Given the description of an element on the screen output the (x, y) to click on. 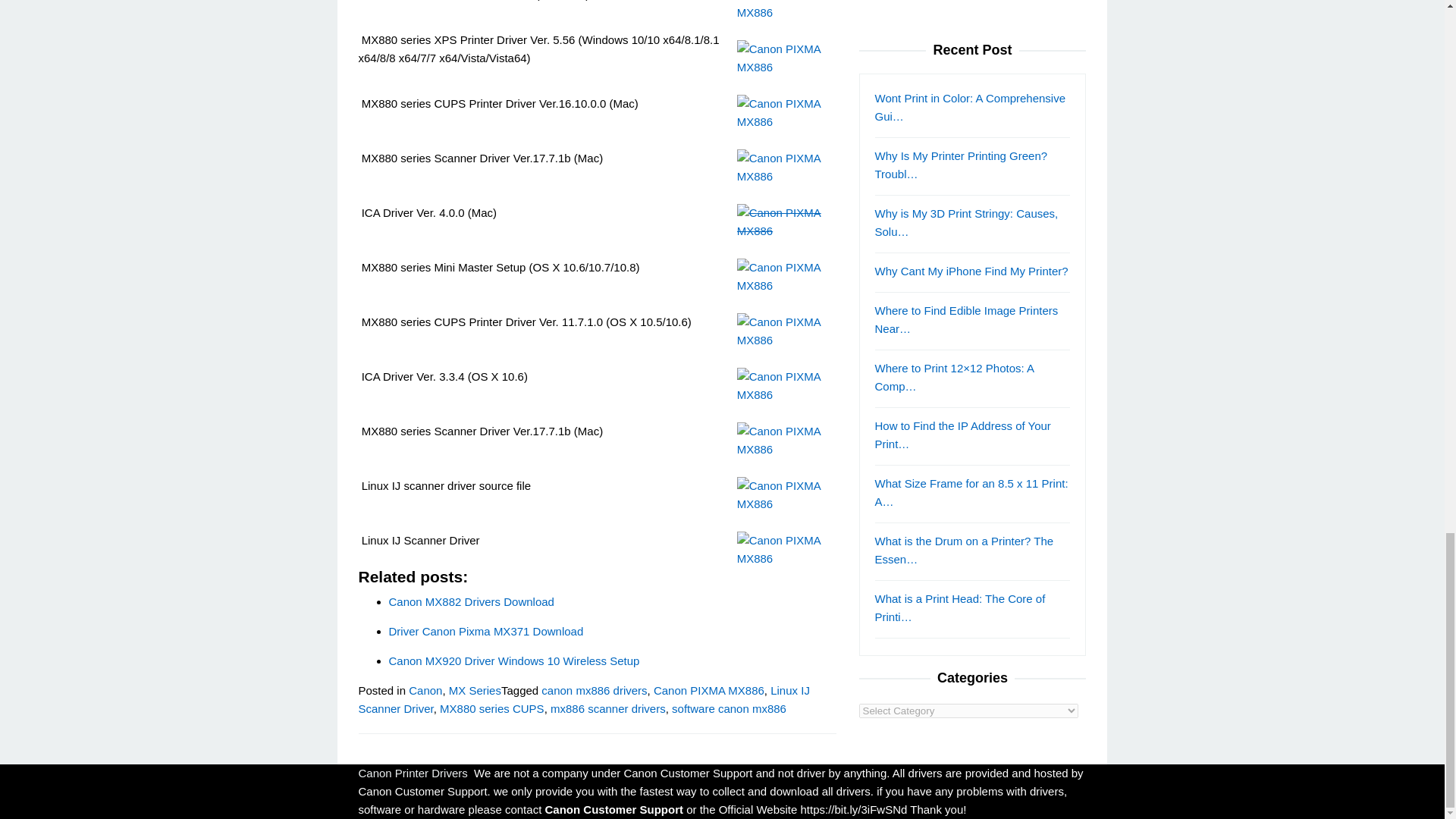
Canon (425, 689)
Canon PIXMA MX886 (785, 549)
Permalink to: Canon MX882 Drivers Download (470, 601)
Canon PIXMA MX886 (708, 689)
Permalink to: Driver Canon Pixma MX371 Download (485, 631)
Canon PIXMA MX886 (785, 11)
Canon PIXMA MX886 (785, 221)
canon mx886 drivers (593, 689)
Driver Canon Pixma MX371 Download (485, 631)
Linux IJ Scanner Driver (583, 698)
